Given the description of an element on the screen output the (x, y) to click on. 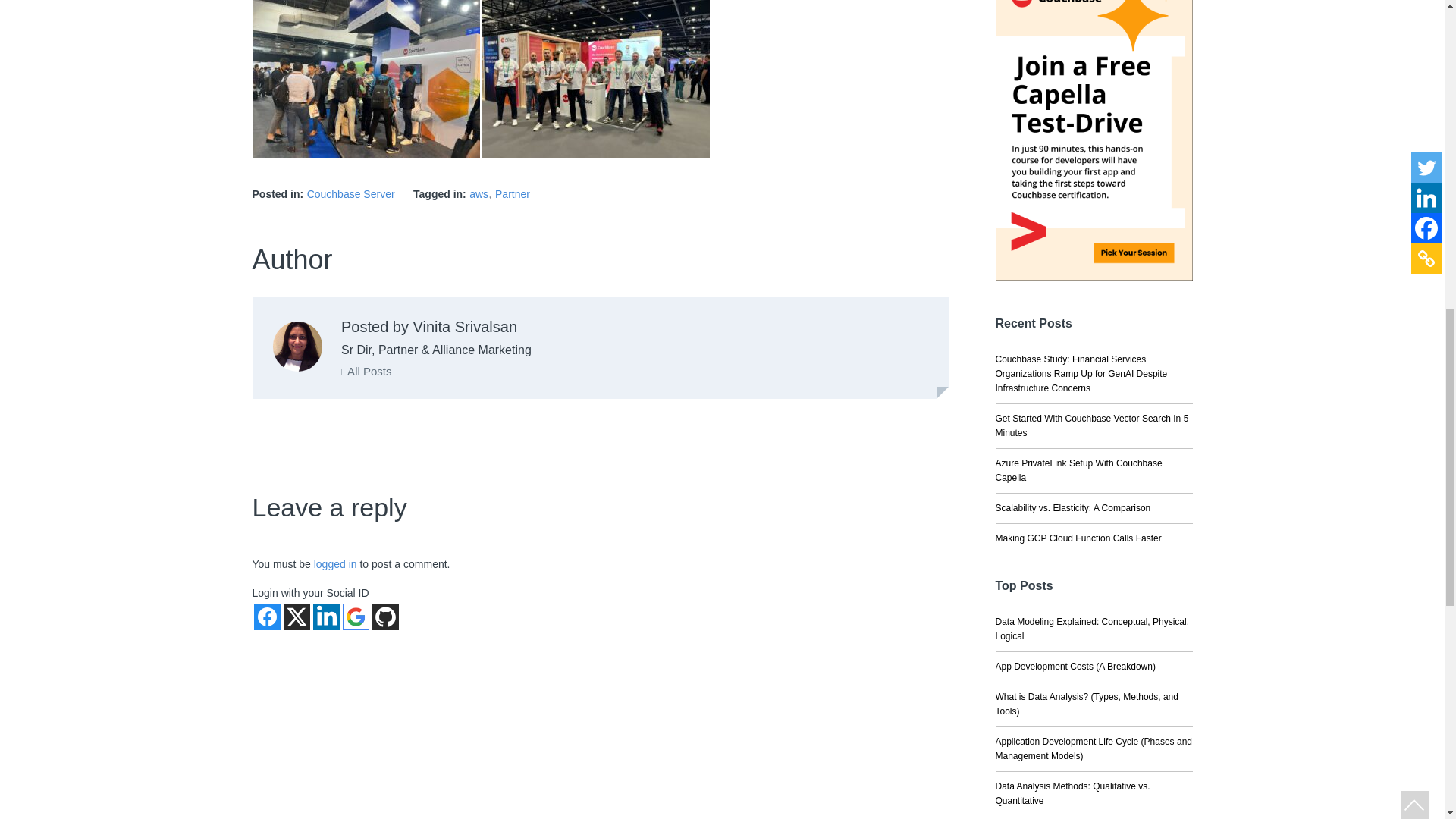
Login with Github (384, 616)
Login with Google (355, 616)
Posts by Vinita Srivalsan (297, 347)
Login with X (296, 616)
Login with Facebook (266, 616)
Login with Linkedin (326, 616)
